Given the description of an element on the screen output the (x, y) to click on. 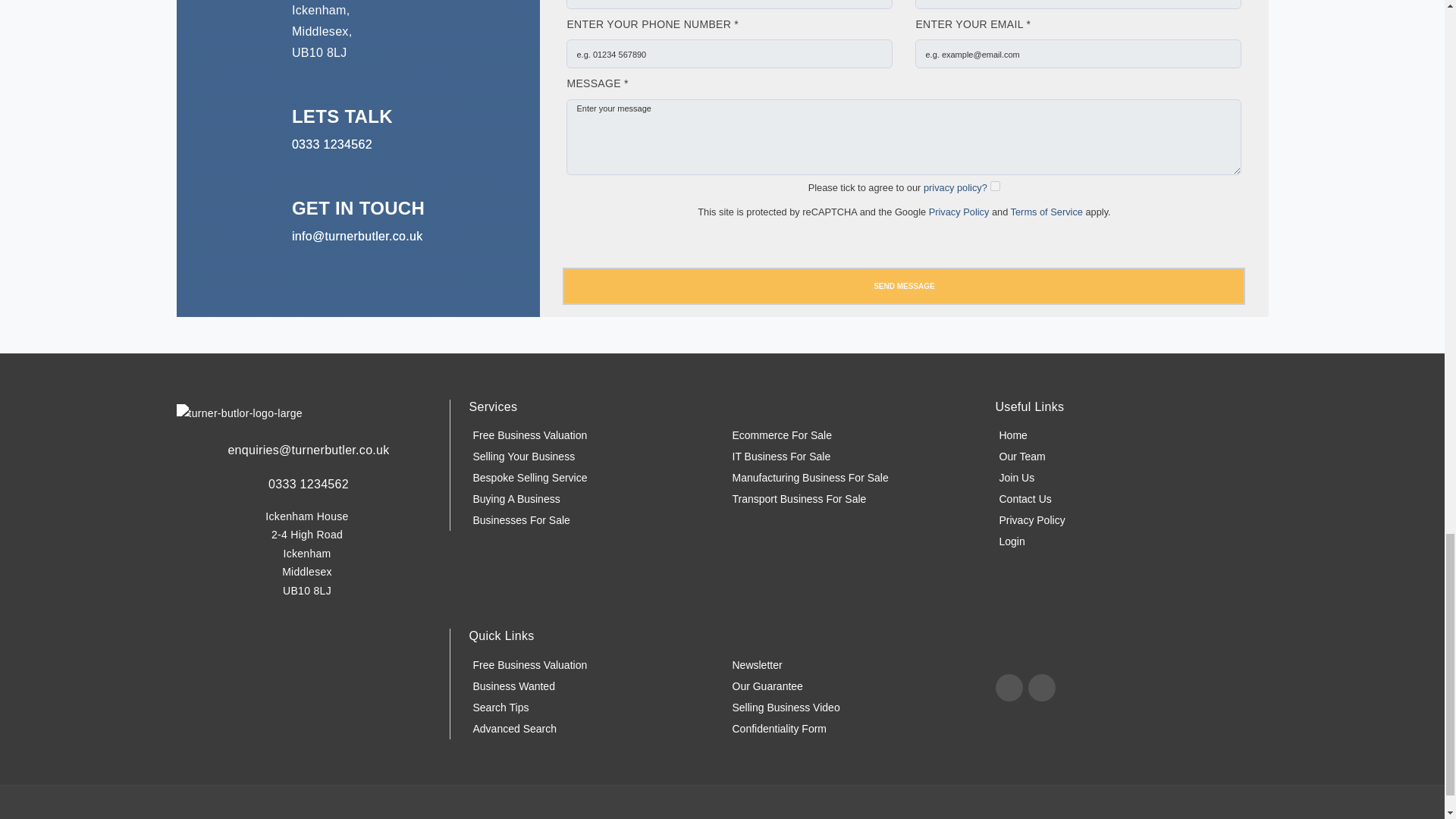
SEND MESSAGE (903, 285)
yes (995, 185)
Terms of Service (1046, 211)
0333 1234562 (332, 144)
privacy policy? (955, 187)
Privacy Policy (959, 211)
Google Terms of Service (1046, 211)
Google Privacy Policy (959, 211)
